Given the description of an element on the screen output the (x, y) to click on. 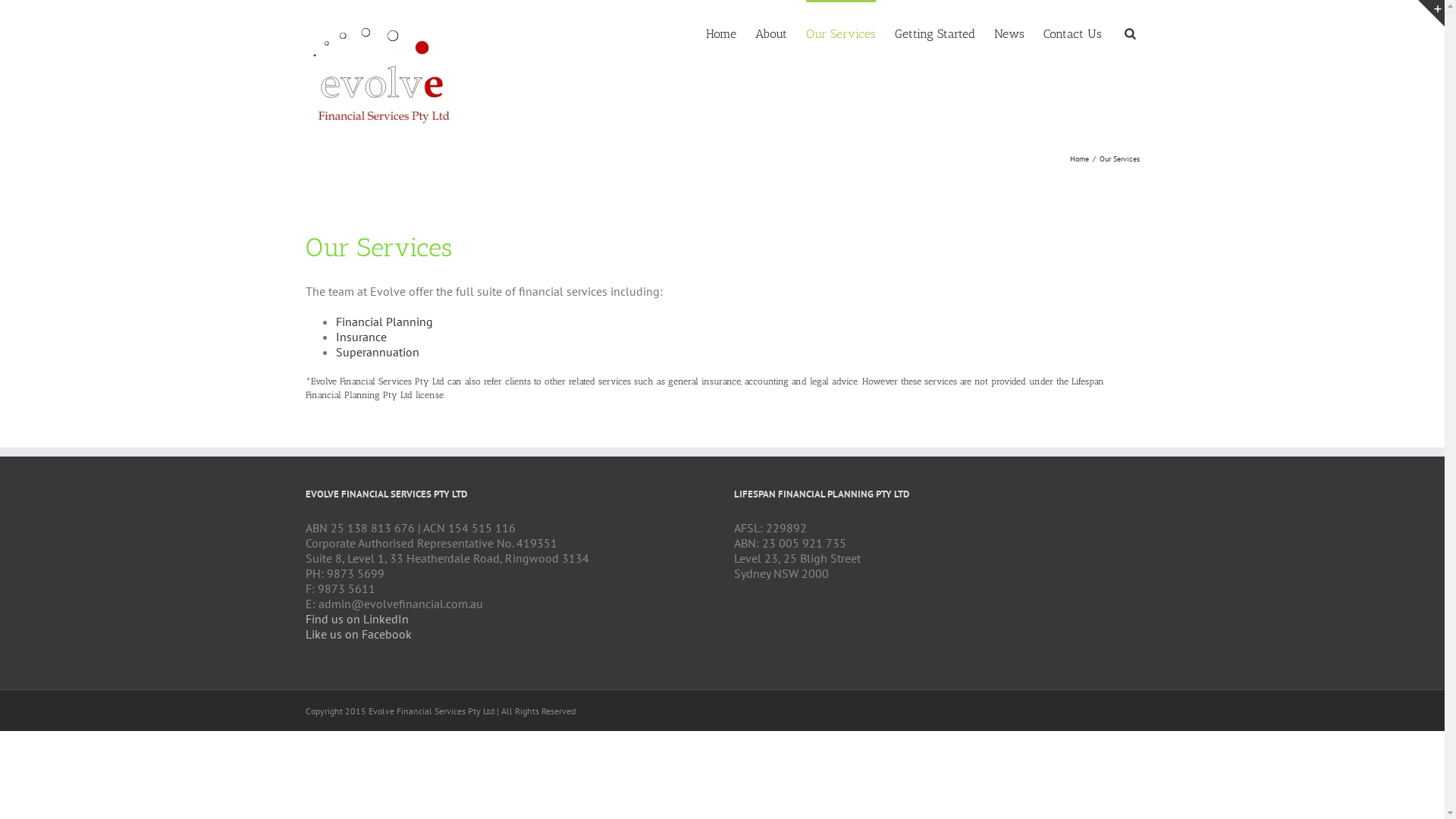
Financial Planning Element type: text (383, 321)
Like us on Facebook Element type: text (357, 633)
Home Element type: text (1080, 158)
Find us on LinkedIn Element type: text (355, 618)
Superannuation Element type: text (376, 351)
Our Services Element type: text (840, 32)
Getting Started Element type: text (934, 32)
Insurance Element type: text (360, 336)
Home Element type: text (720, 32)
Contact Us Element type: text (1072, 32)
About Element type: text (771, 32)
News Element type: text (1008, 32)
